Given the description of an element on the screen output the (x, y) to click on. 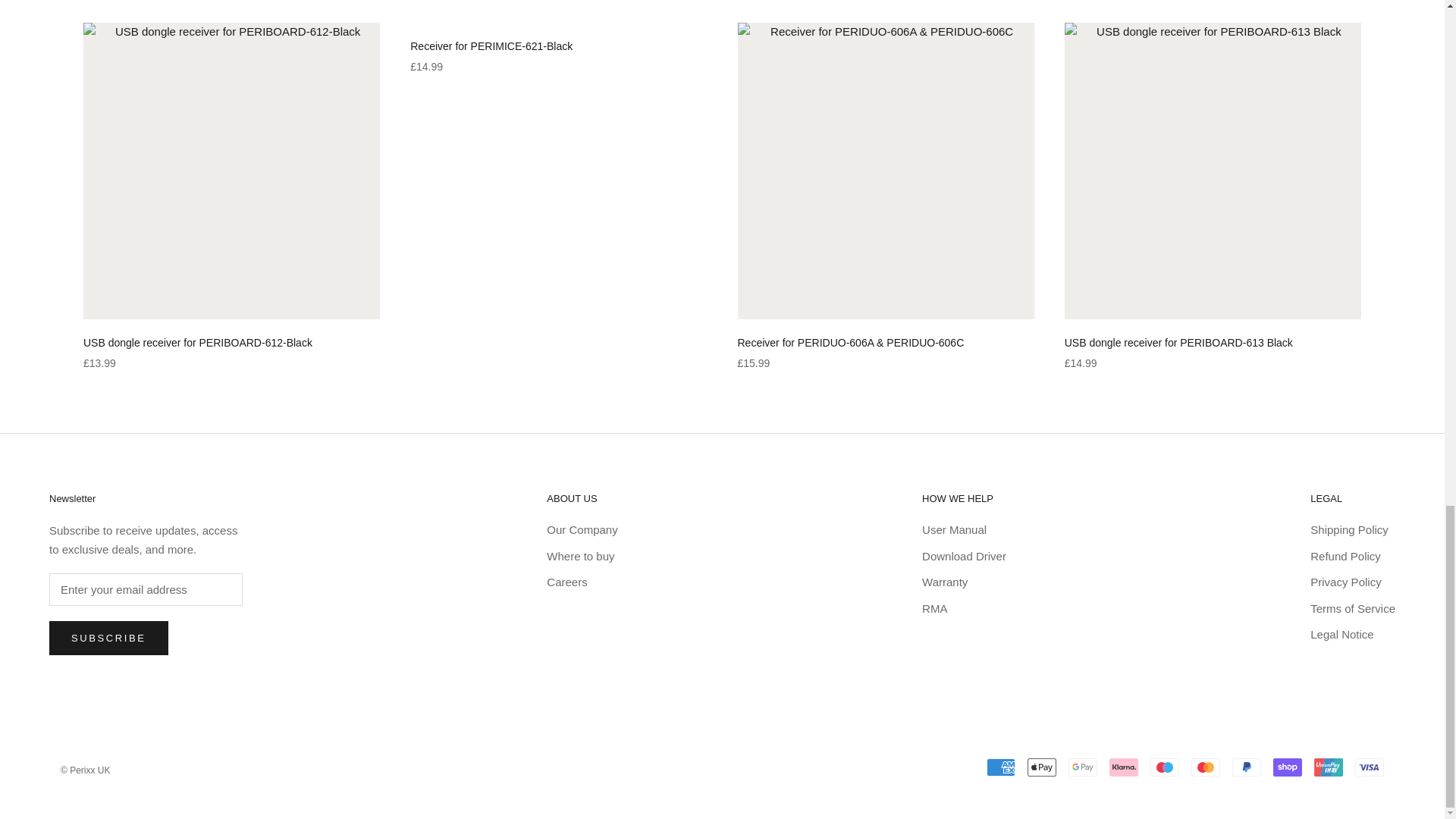
Apple Pay (1042, 767)
Google Pay (1082, 767)
American Express (1000, 767)
